Given the description of an element on the screen output the (x, y) to click on. 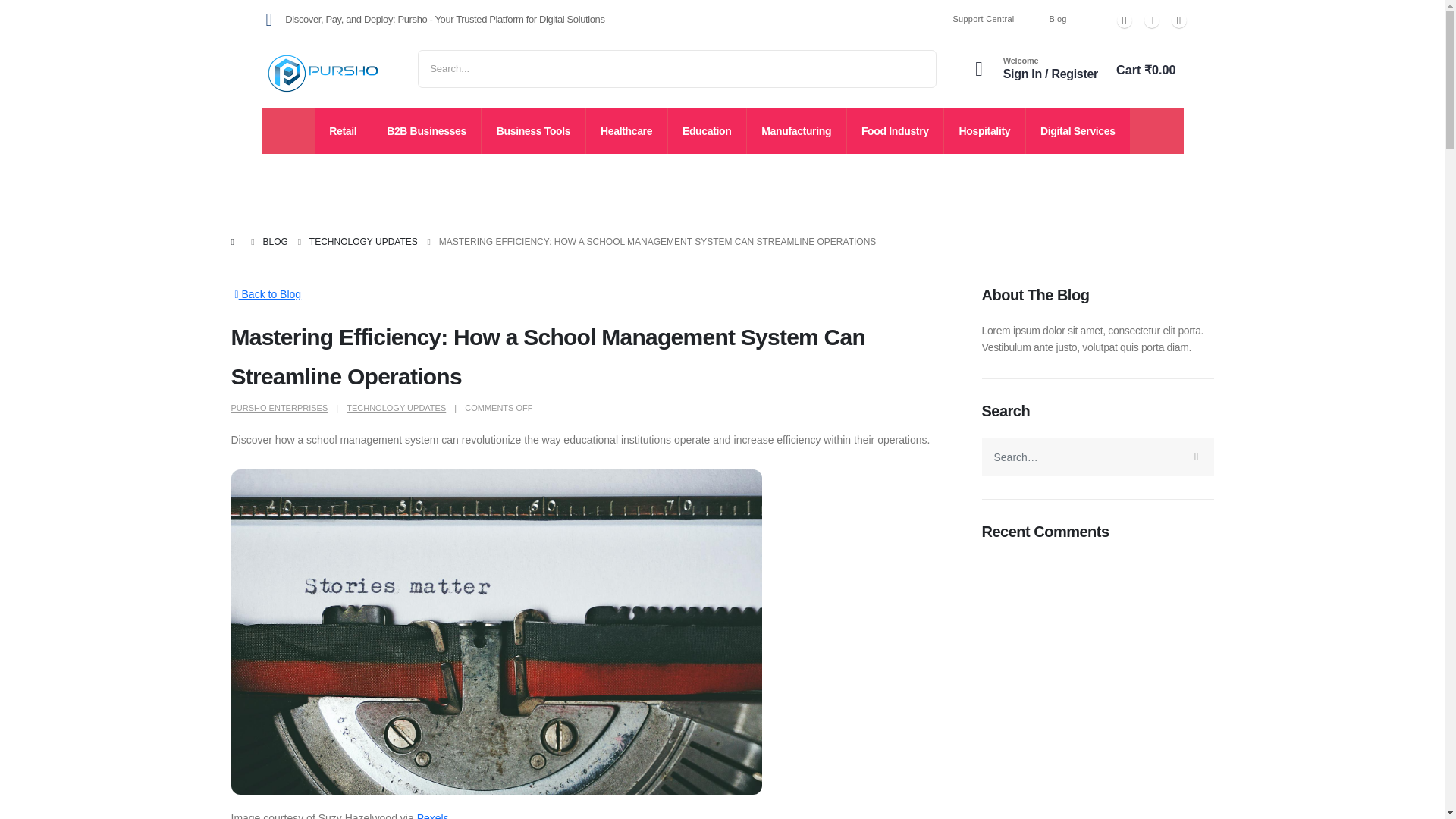
Pursho.com - Saas marketplace (320, 72)
LinkedIn (1178, 20)
Back to Blog (265, 293)
Search (516, 68)
Posts by Pursho Enterprises (278, 407)
Retail (342, 130)
Hospitality (984, 130)
Food Industry (895, 130)
Facebook (1124, 20)
Healthcare (626, 130)
